Given the description of an element on the screen output the (x, y) to click on. 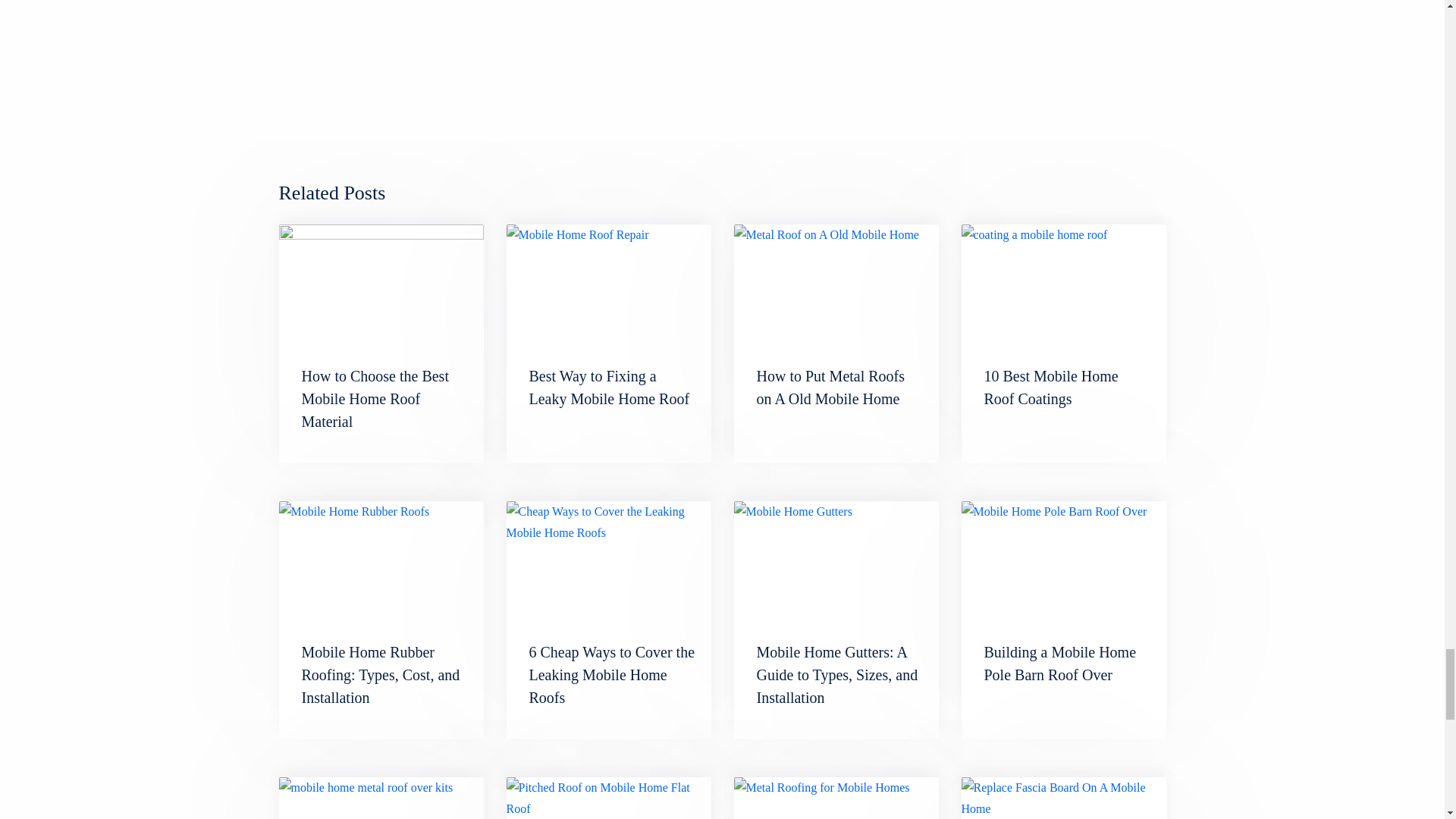
Mobile Home Rubber Roofing: Types, Cost, and Installation (380, 674)
Best Way to Fixing a Leaky Mobile Home Roof (609, 387)
How to Choose the Best Mobile Home Roof Material (374, 398)
Best Way to Fixing a Leaky Mobile Home Roof (609, 387)
6 Cheap Ways to Cover the Leaking Mobile Home Roofs (612, 674)
Best Way to Fixing a Leaky Mobile Home Roof (608, 282)
How to Put Metal Roofs on A Old Mobile Home (831, 387)
10 Best Mobile Home Roof Coatings (1063, 282)
How to Choose the Best Mobile Home Roof Material (381, 282)
Mobile Home Rubber Roofing: Types, Cost, and Installation (380, 674)
